Given the description of an element on the screen output the (x, y) to click on. 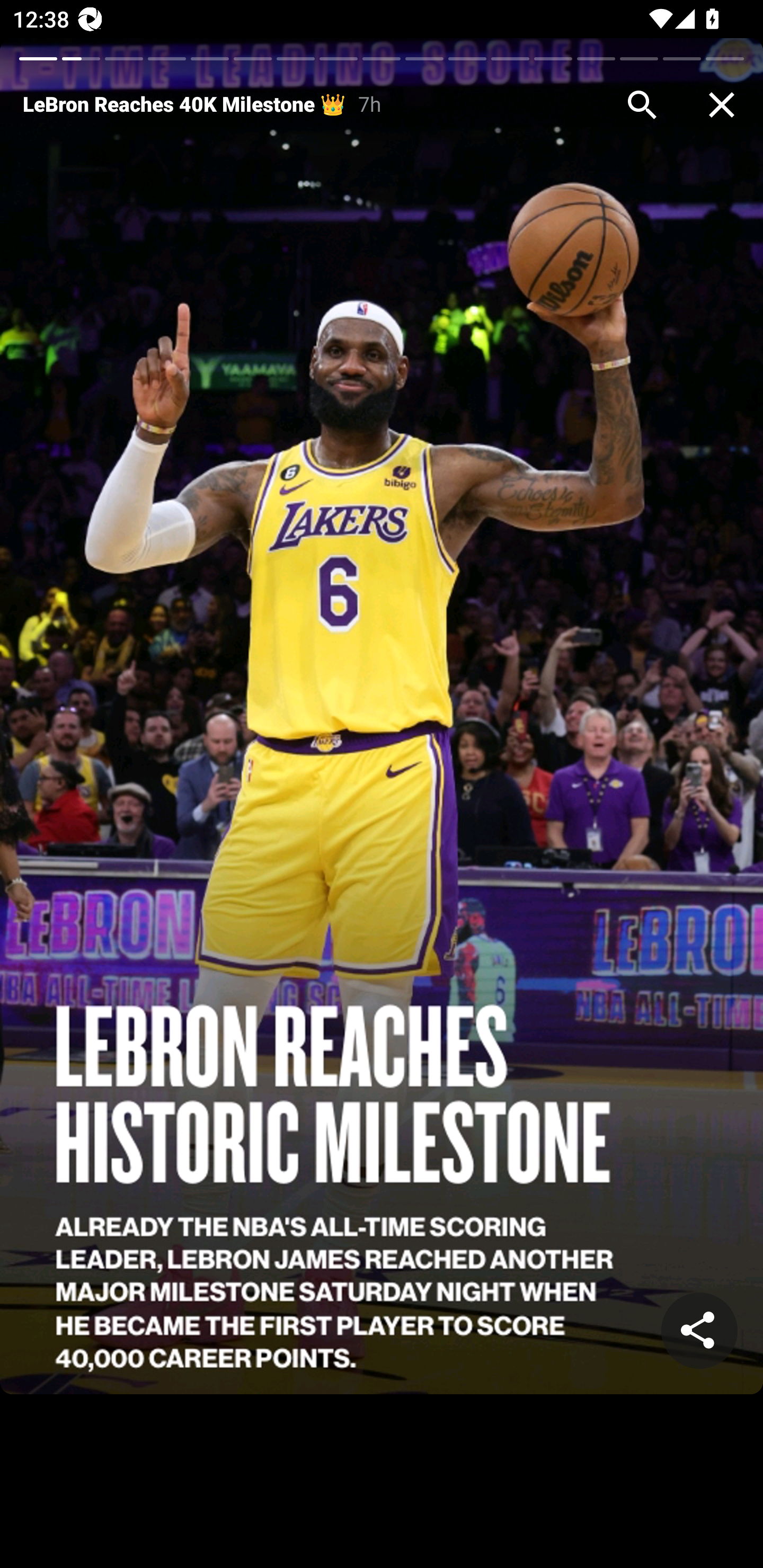
search (642, 104)
close (721, 104)
share (699, 1330)
